Given the description of an element on the screen output the (x, y) to click on. 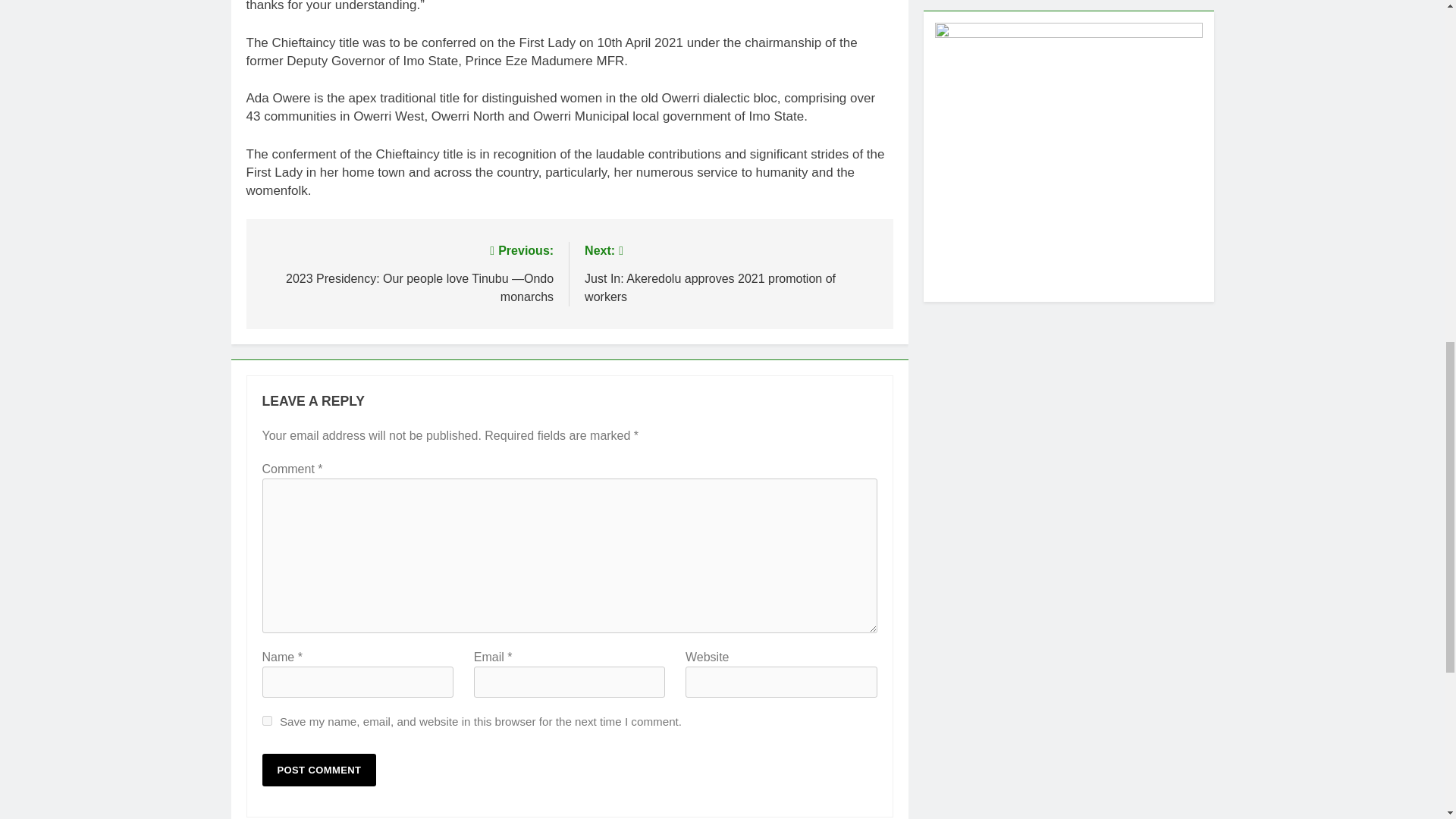
yes (267, 720)
Post Comment (319, 769)
